Given the description of an element on the screen output the (x, y) to click on. 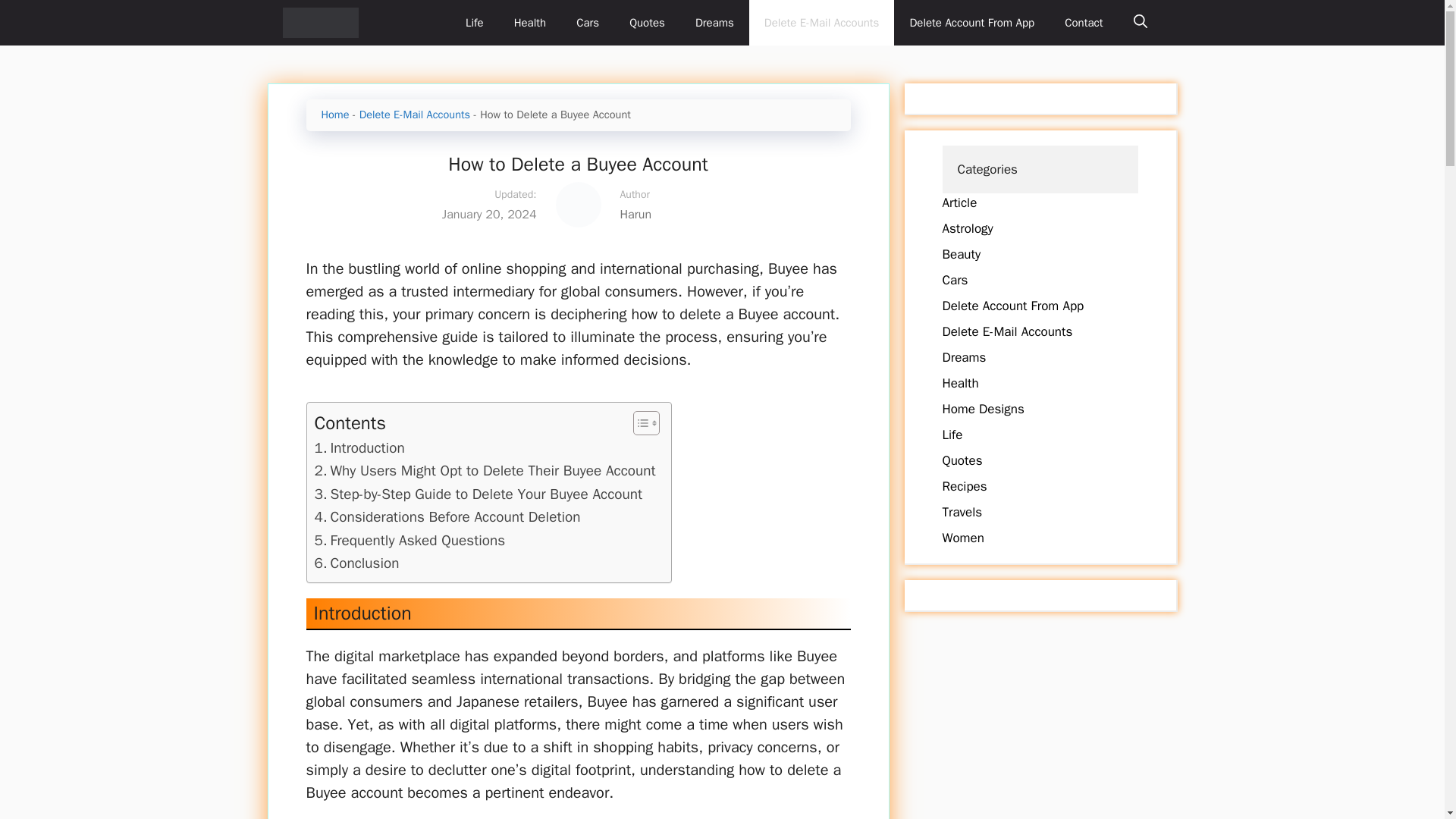
View all posts by Harun (725, 213)
Introduction (359, 447)
Harun (725, 213)
Step-by-Step Guide to Delete Your Buyee Account (478, 494)
Why Users Might Opt to Delete Their Buyee Account (484, 470)
Astrology (967, 228)
Conclusion (356, 563)
Frequently Asked Questions (409, 540)
Home (335, 114)
Considerations Before Account Deletion (446, 517)
